Given the description of an element on the screen output the (x, y) to click on. 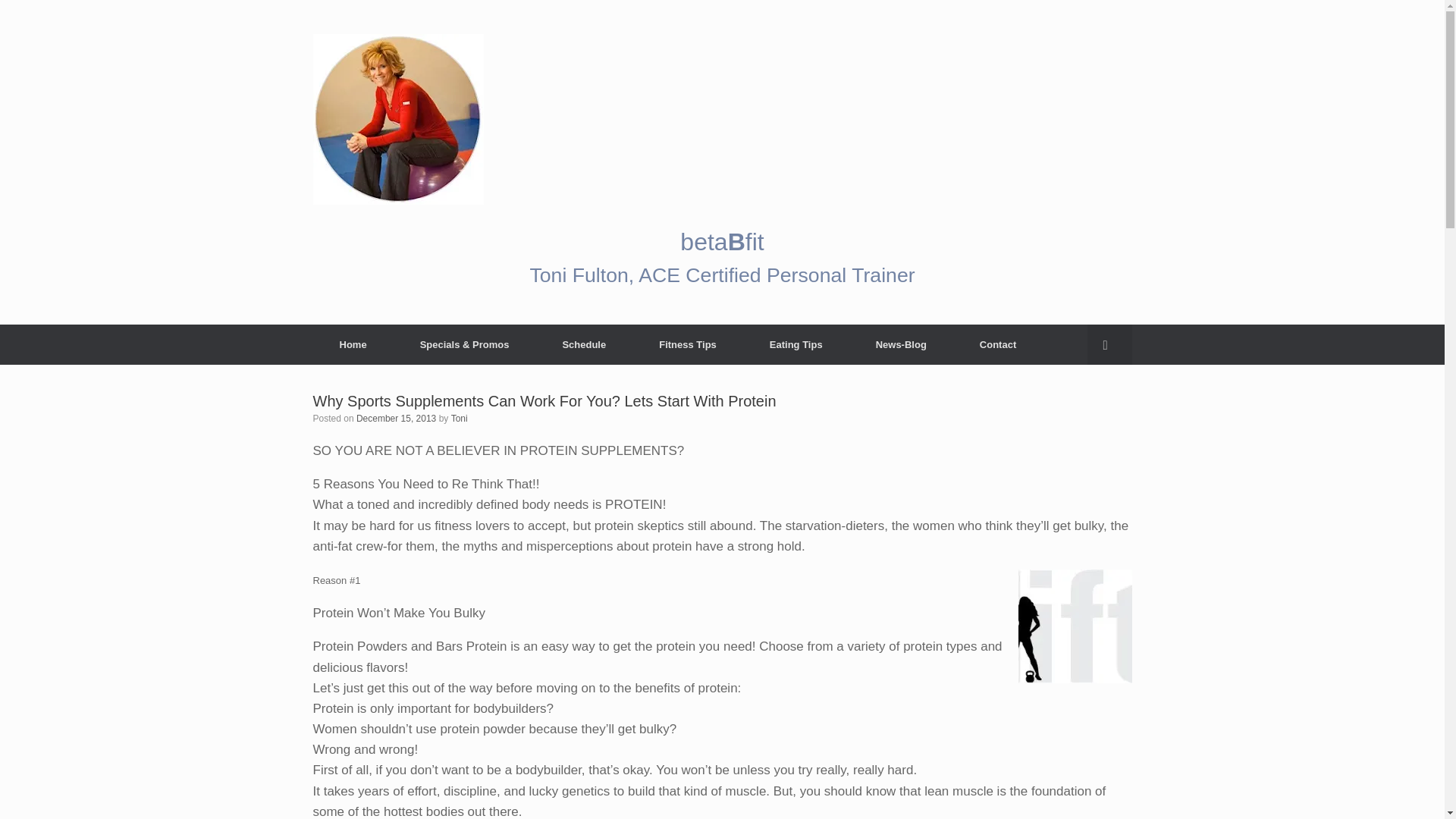
Eating Tips (795, 344)
News-Blog (900, 344)
Home (353, 344)
Fitness Tips (686, 344)
December 15, 2013 (395, 418)
Toni Fulton (398, 119)
Toni (459, 418)
6:44 pm (395, 418)
Contact (997, 344)
View all posts by Toni (459, 418)
Schedule (583, 344)
